Given the description of an element on the screen output the (x, y) to click on. 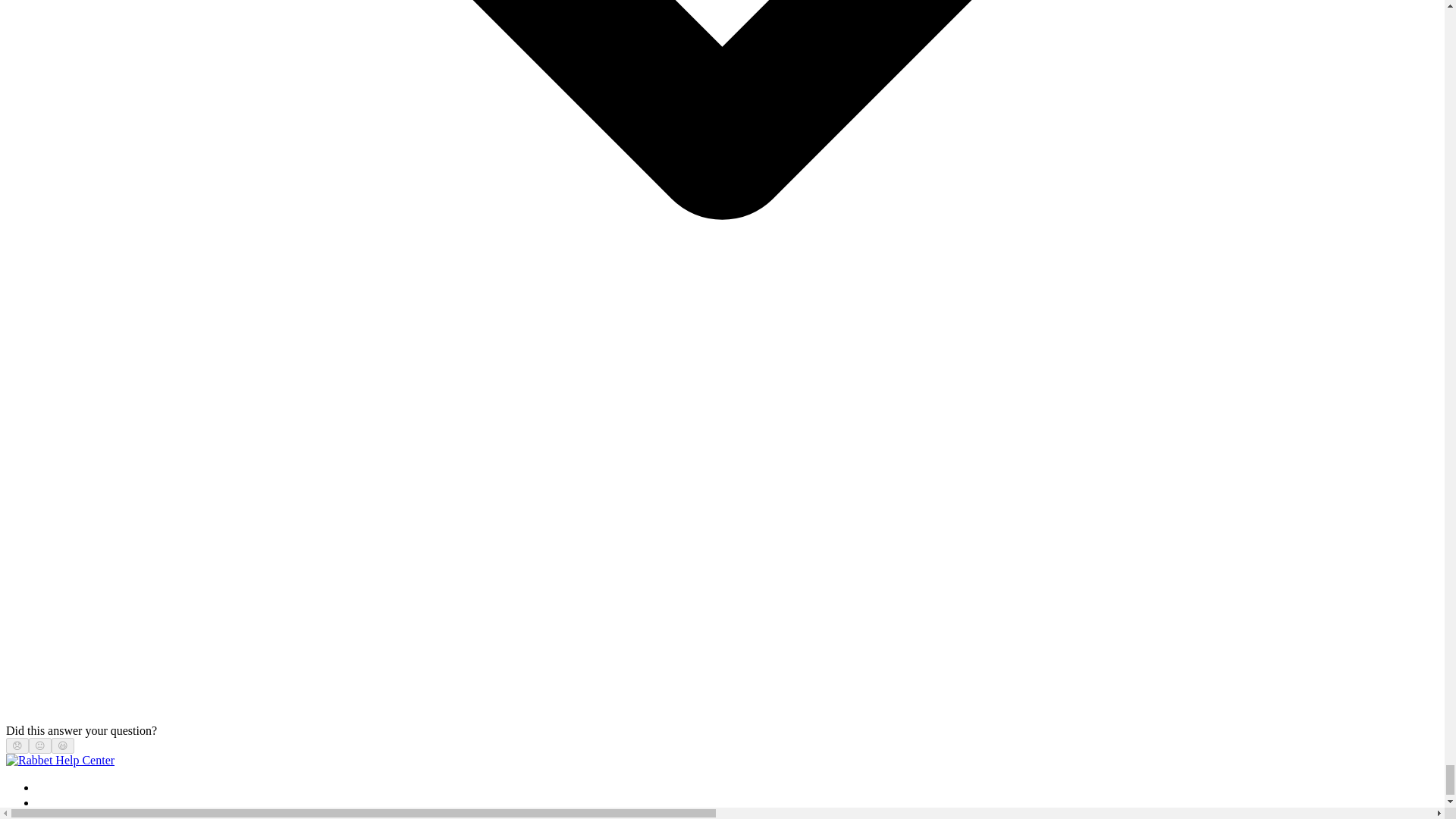
Smiley (63, 745)
Disappointed (17, 745)
Neutral (39, 745)
